Given the description of an element on the screen output the (x, y) to click on. 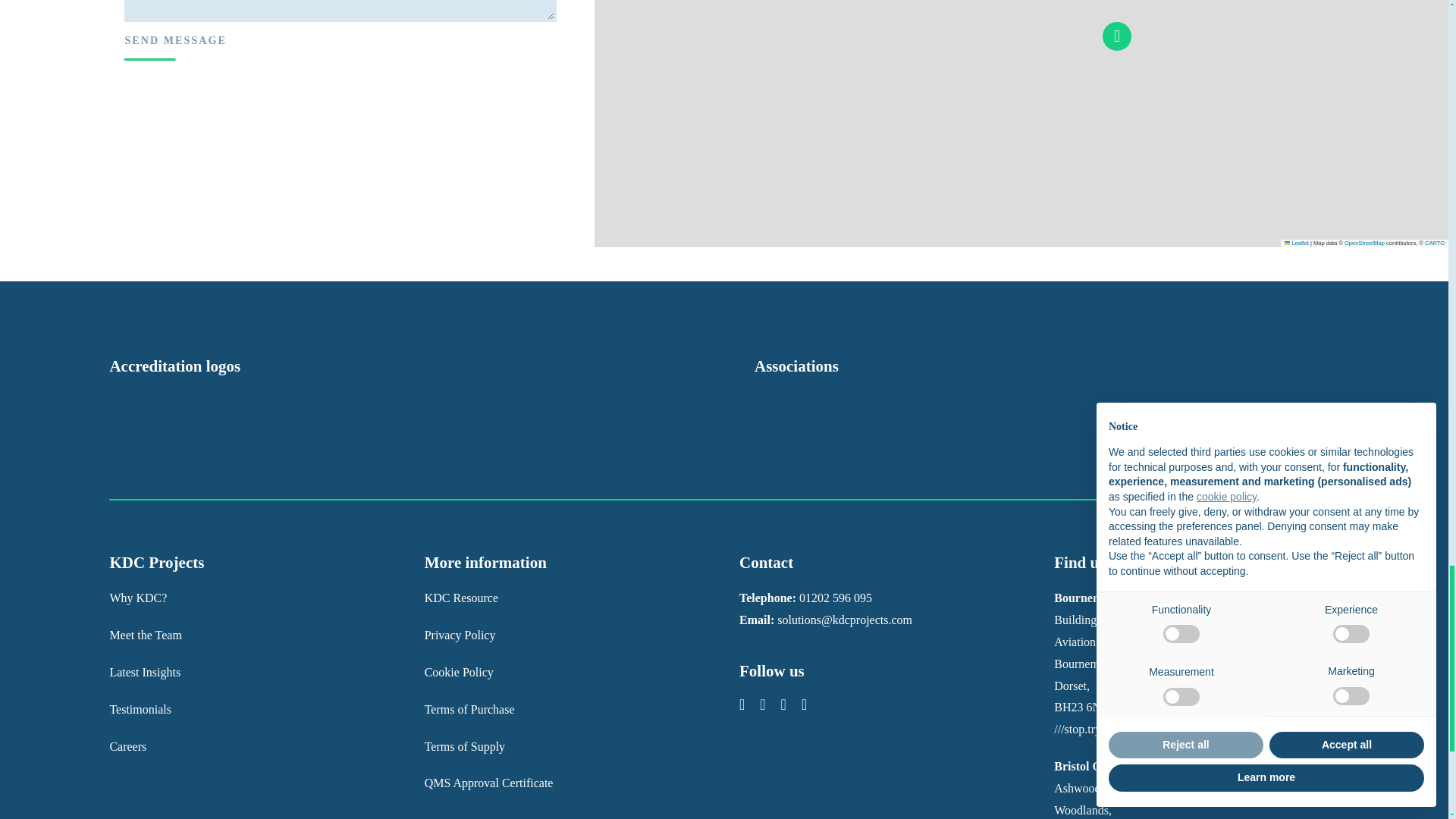
Send Message (175, 40)
Careers (128, 746)
Privacy Policy  (460, 634)
Send Message (1296, 242)
Terms of Purchase (175, 40)
01202 596 095 (470, 708)
Cookie Policy  (835, 597)
CARTO (459, 671)
Why KDC? (1434, 242)
Cookie Policy (138, 597)
Terms of Supply (459, 671)
KDC Resource (465, 746)
Meet the Team (461, 597)
